Given the description of an element on the screen output the (x, y) to click on. 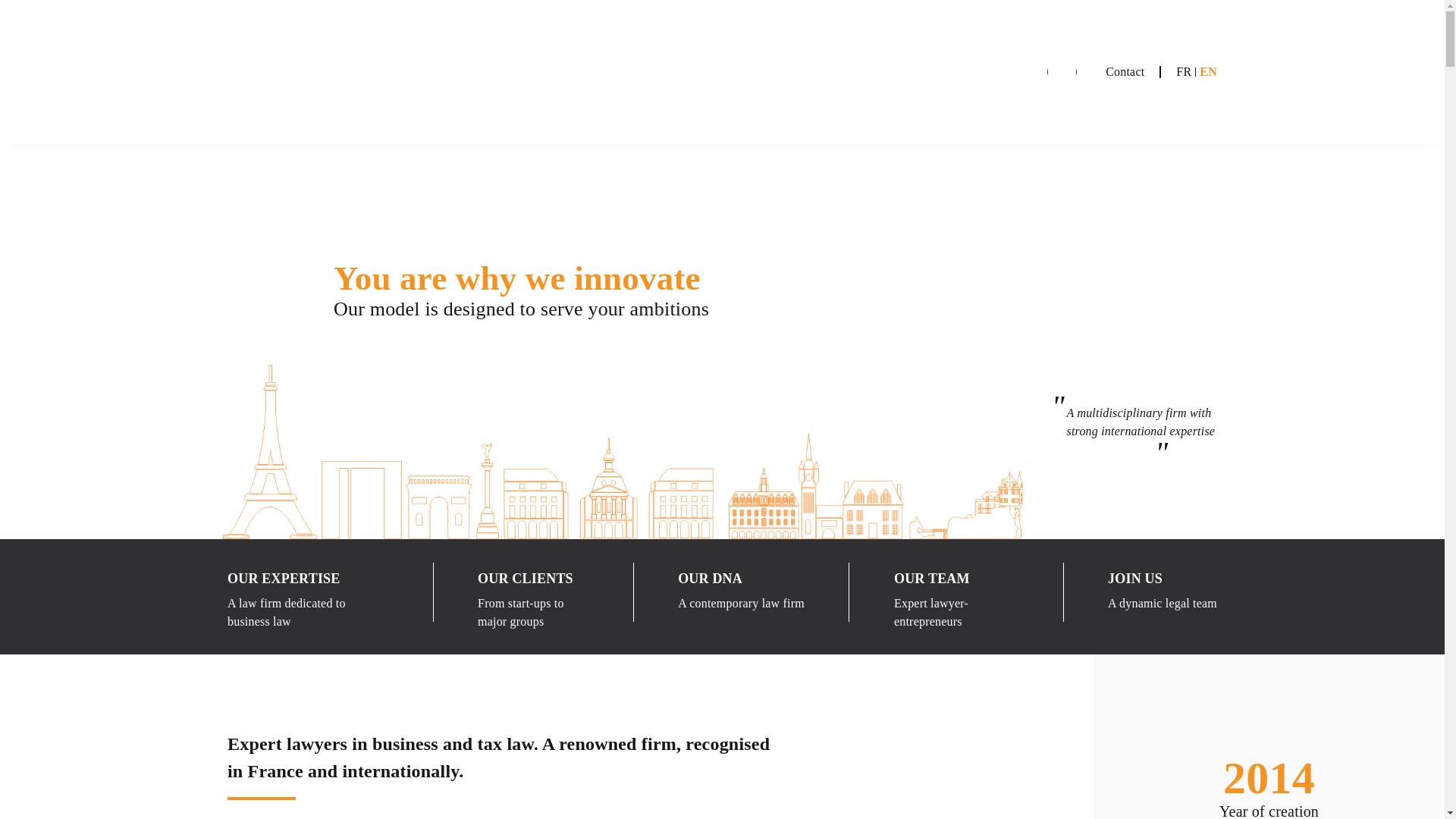
Contact (1124, 71)
Our expertise  (283, 578)
JOIN US (1134, 578)
Our team (931, 578)
EN (1208, 71)
Our DNA  (710, 578)
OUR TEAM (931, 578)
OUR EXPERTISE (283, 578)
Our clients  (525, 578)
OUR DNA (710, 578)
